Given the description of an element on the screen output the (x, y) to click on. 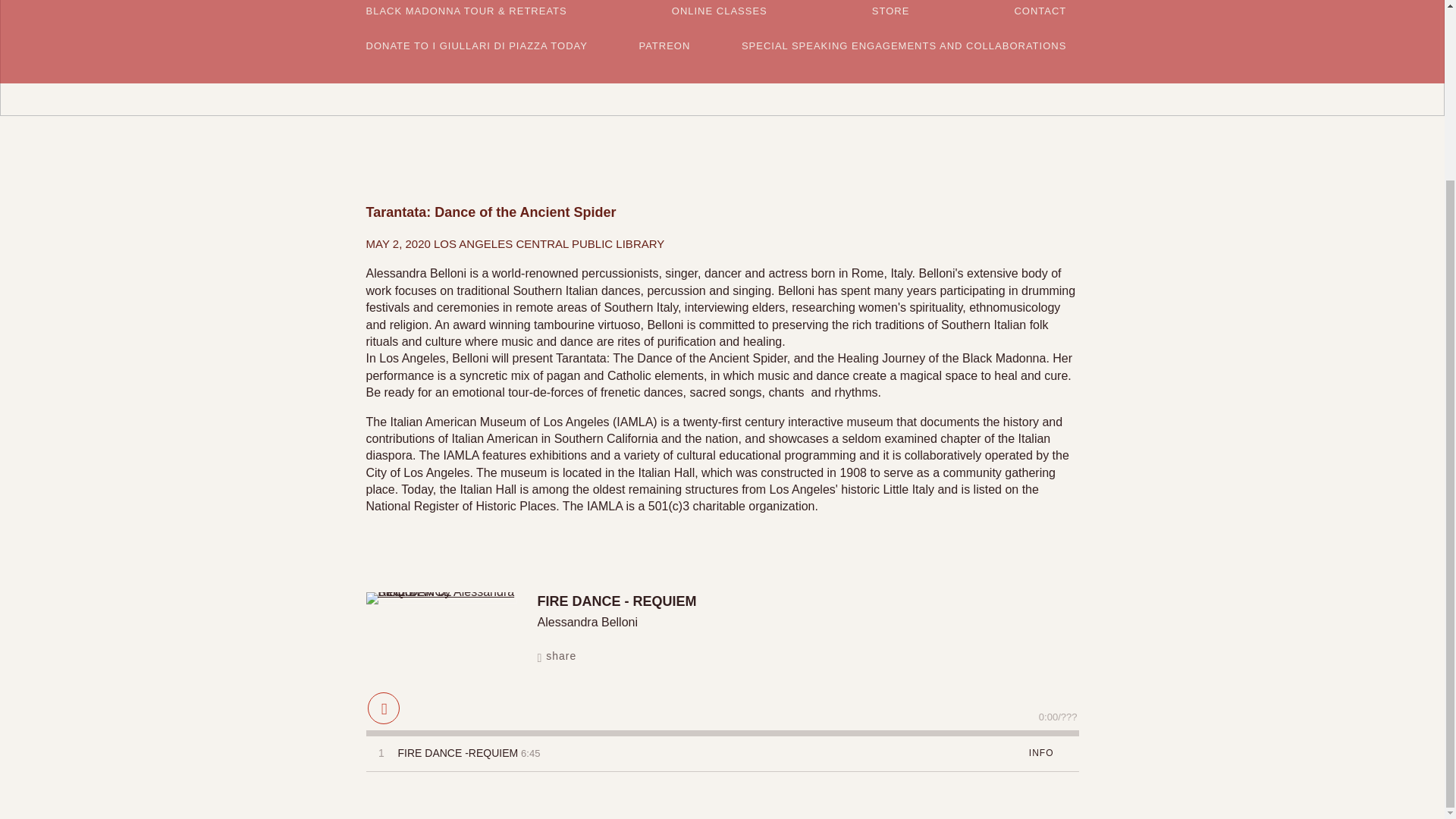
Share FIRE DANCE - REQUIEM (564, 656)
FIRE DANCE -REQUIEM (457, 753)
FIRE DANCE - REQUIEM (440, 598)
